Given the description of an element on the screen output the (x, y) to click on. 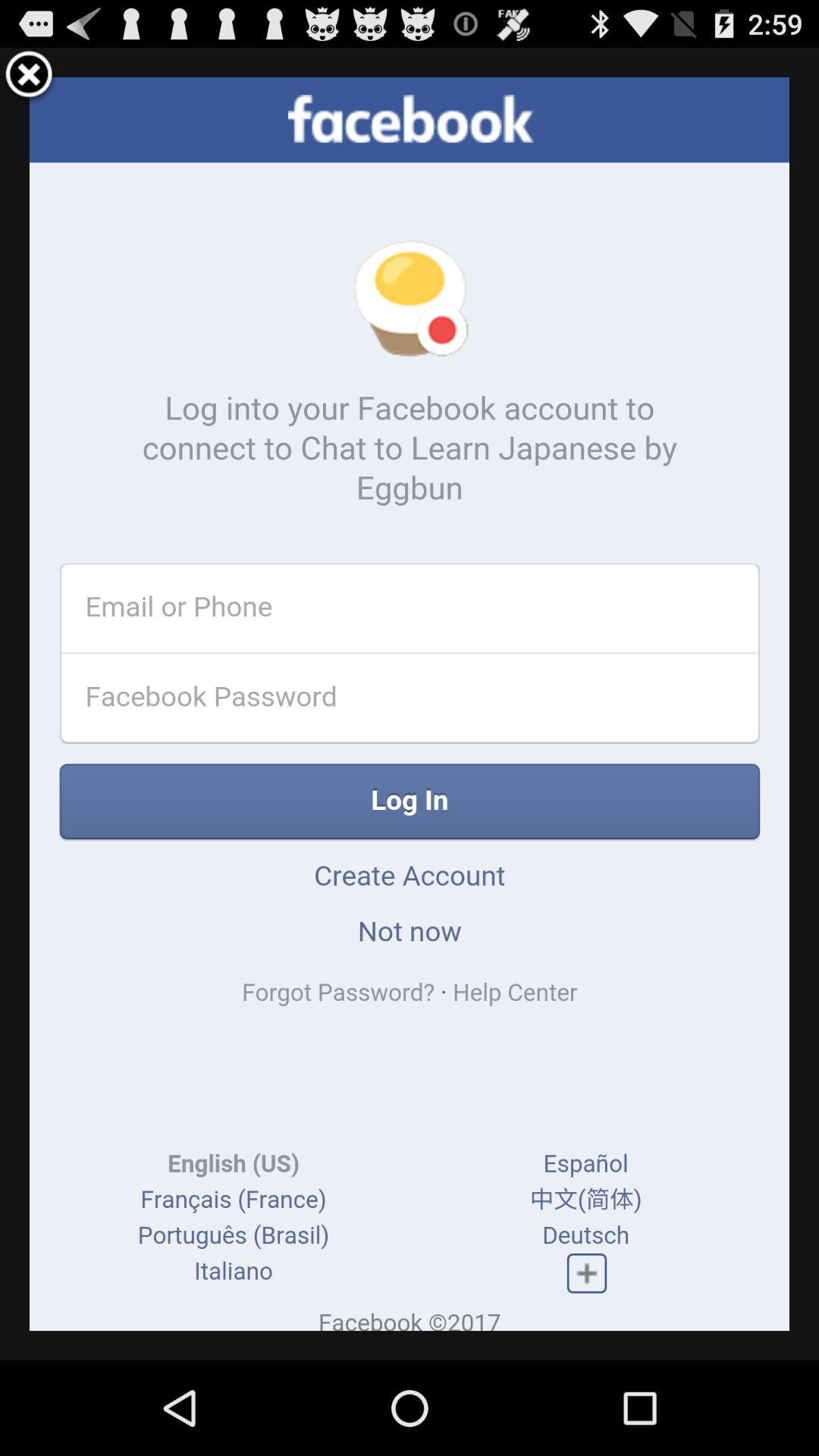
close (29, 76)
